Given the description of an element on the screen output the (x, y) to click on. 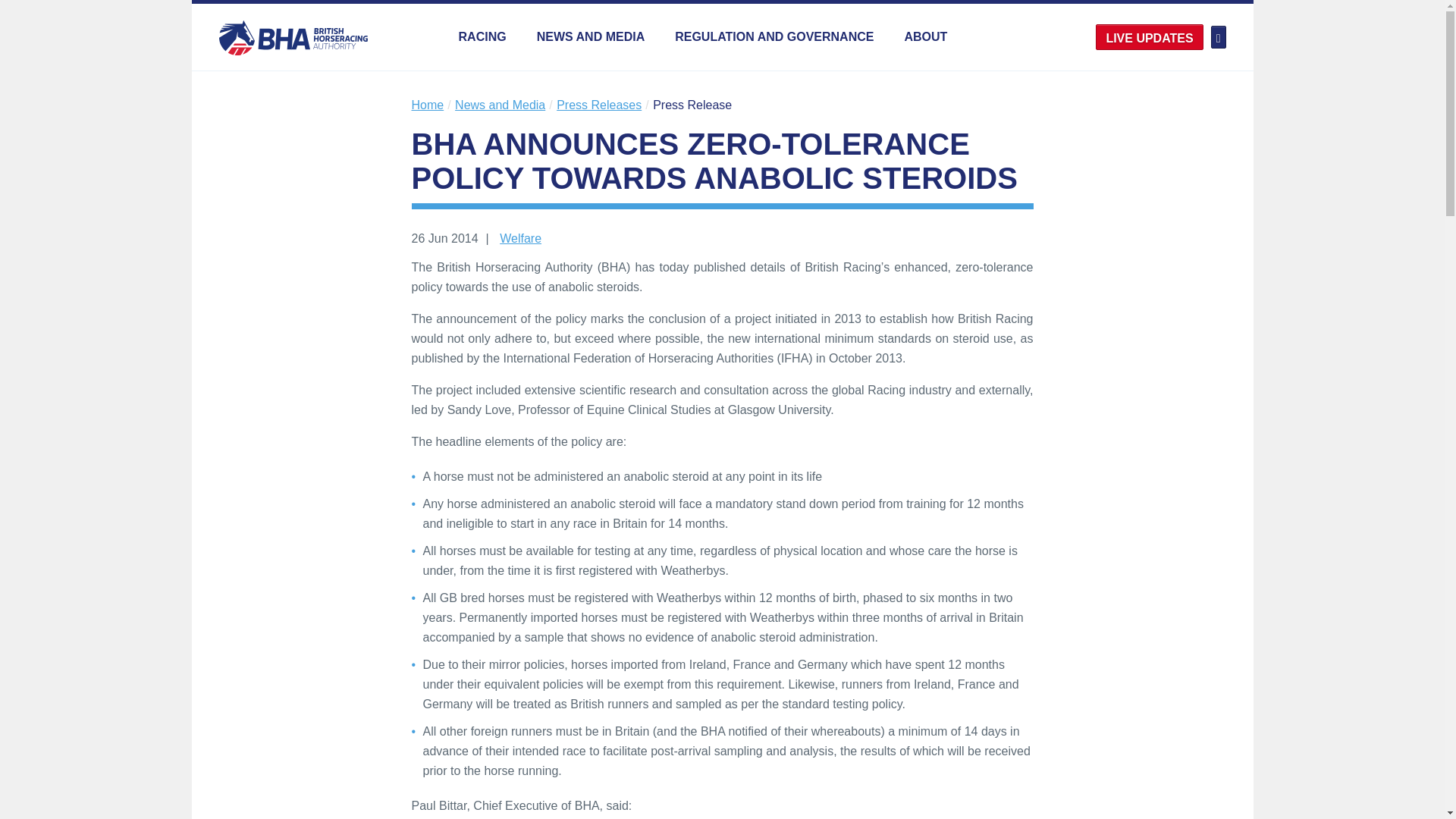
NEWS AND MEDIA (591, 36)
RACING (482, 36)
REGULATION AND GOVERNANCE (773, 36)
